Given the description of an element on the screen output the (x, y) to click on. 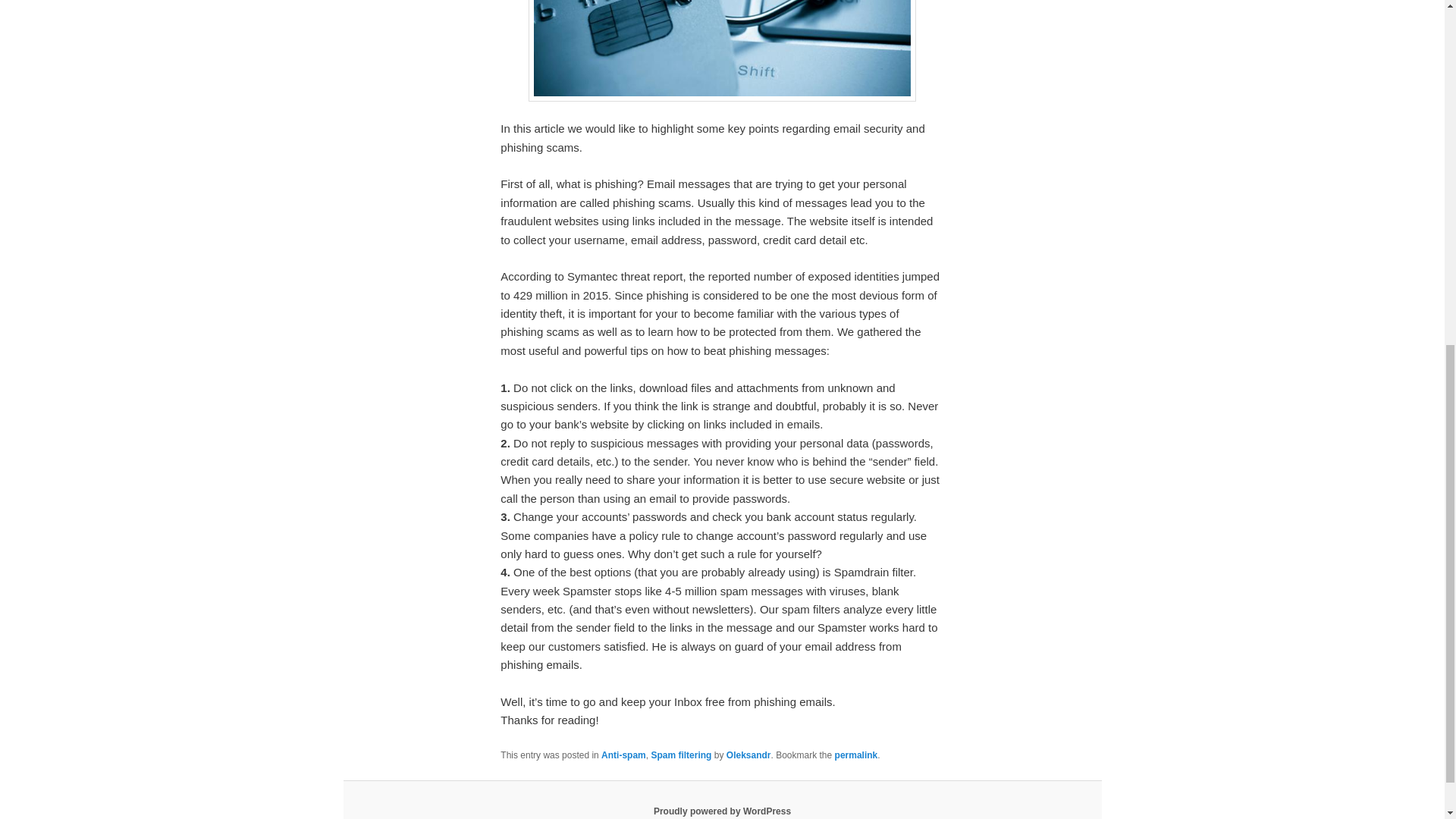
Spam filtering (680, 755)
permalink (855, 755)
Anti-spam (623, 755)
Permalink to Secure Yourself from Phishing Emails (855, 755)
Proudly powered by WordPress (721, 810)
Semantic Personal Publishing Platform (721, 810)
Oleksandr (748, 755)
